Given the description of an element on the screen output the (x, y) to click on. 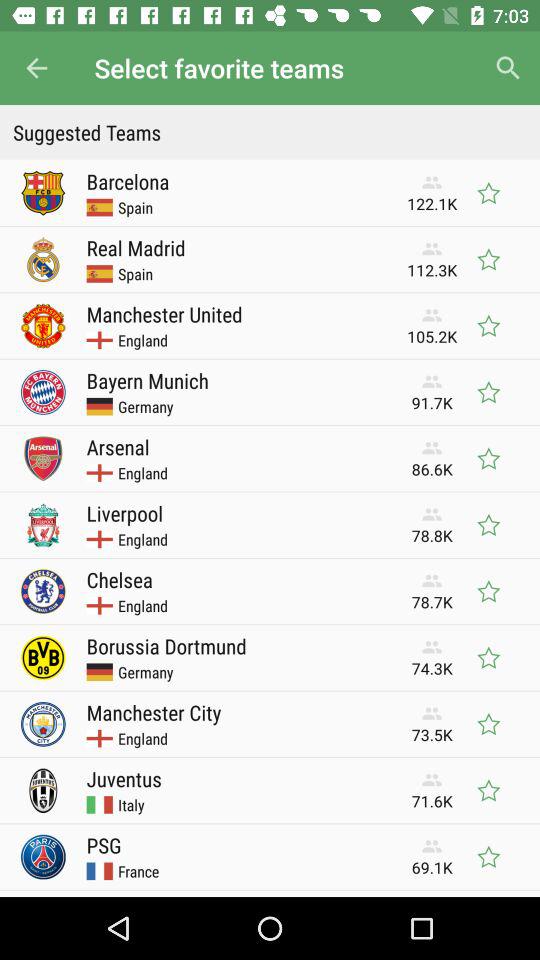
launch the item to the left of 122.1k icon (127, 181)
